Given the description of an element on the screen output the (x, y) to click on. 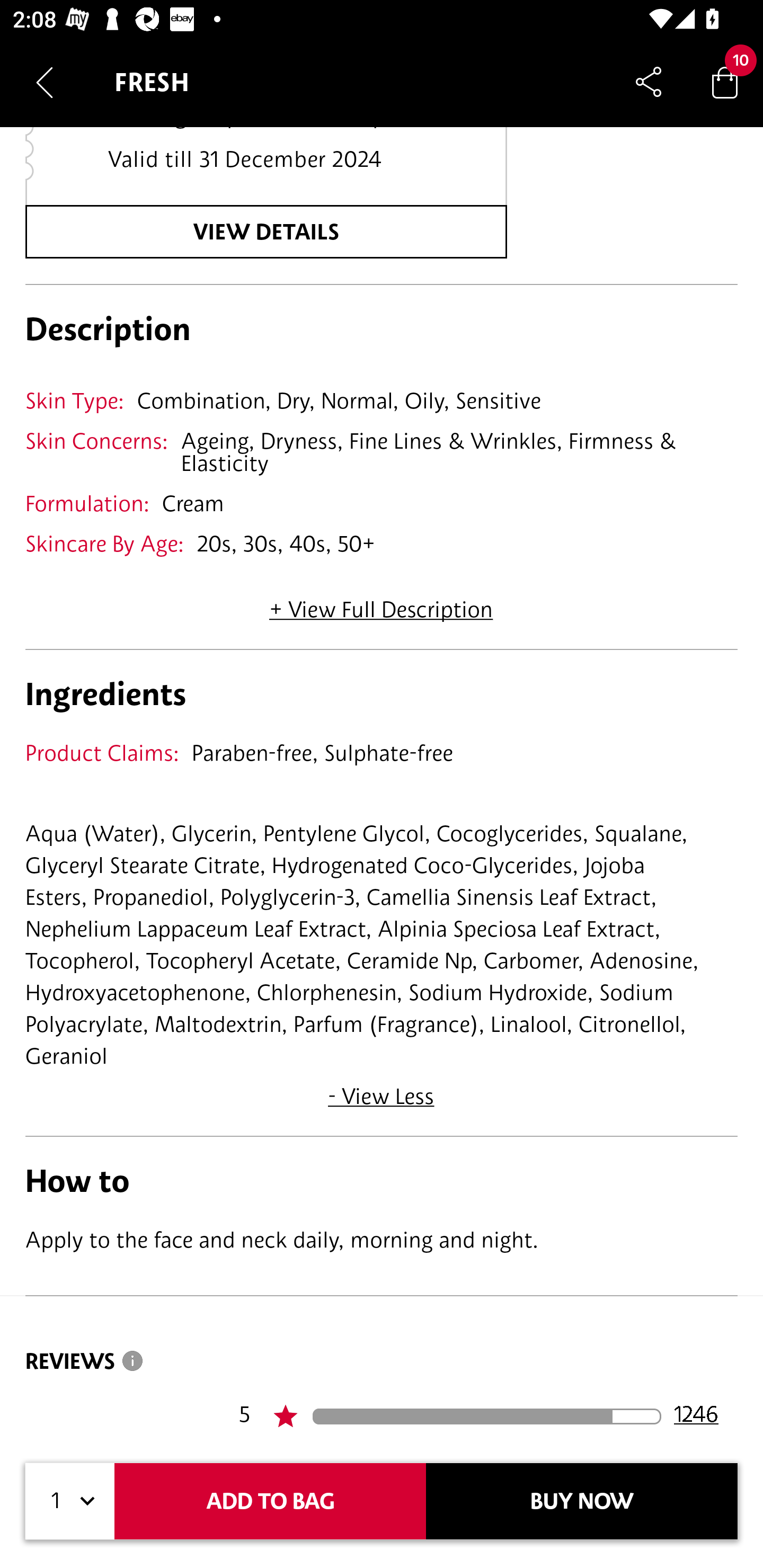
Navigate up (44, 82)
Share (648, 81)
Bag (724, 81)
VIEW DETAILS (266, 231)
+ View Full Description (380, 603)
- View Less (381, 1089)
5 86.0 1246 (487, 1416)
1 (69, 1500)
ADD TO BAG (269, 1500)
BUY NOW (581, 1500)
